Given the description of an element on the screen output the (x, y) to click on. 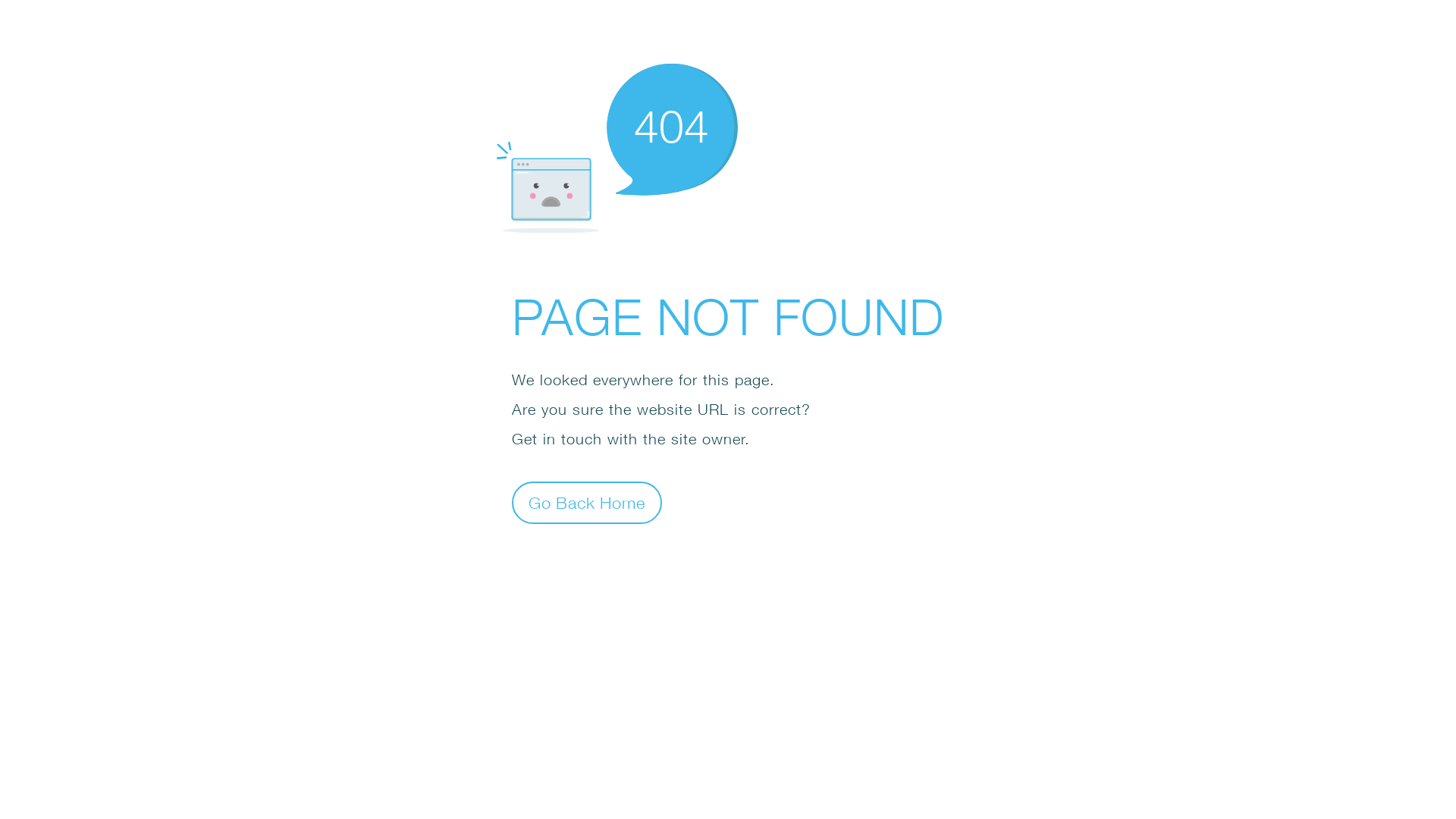
Go Back Home Element type: text (586, 502)
